Given the description of an element on the screen output the (x, y) to click on. 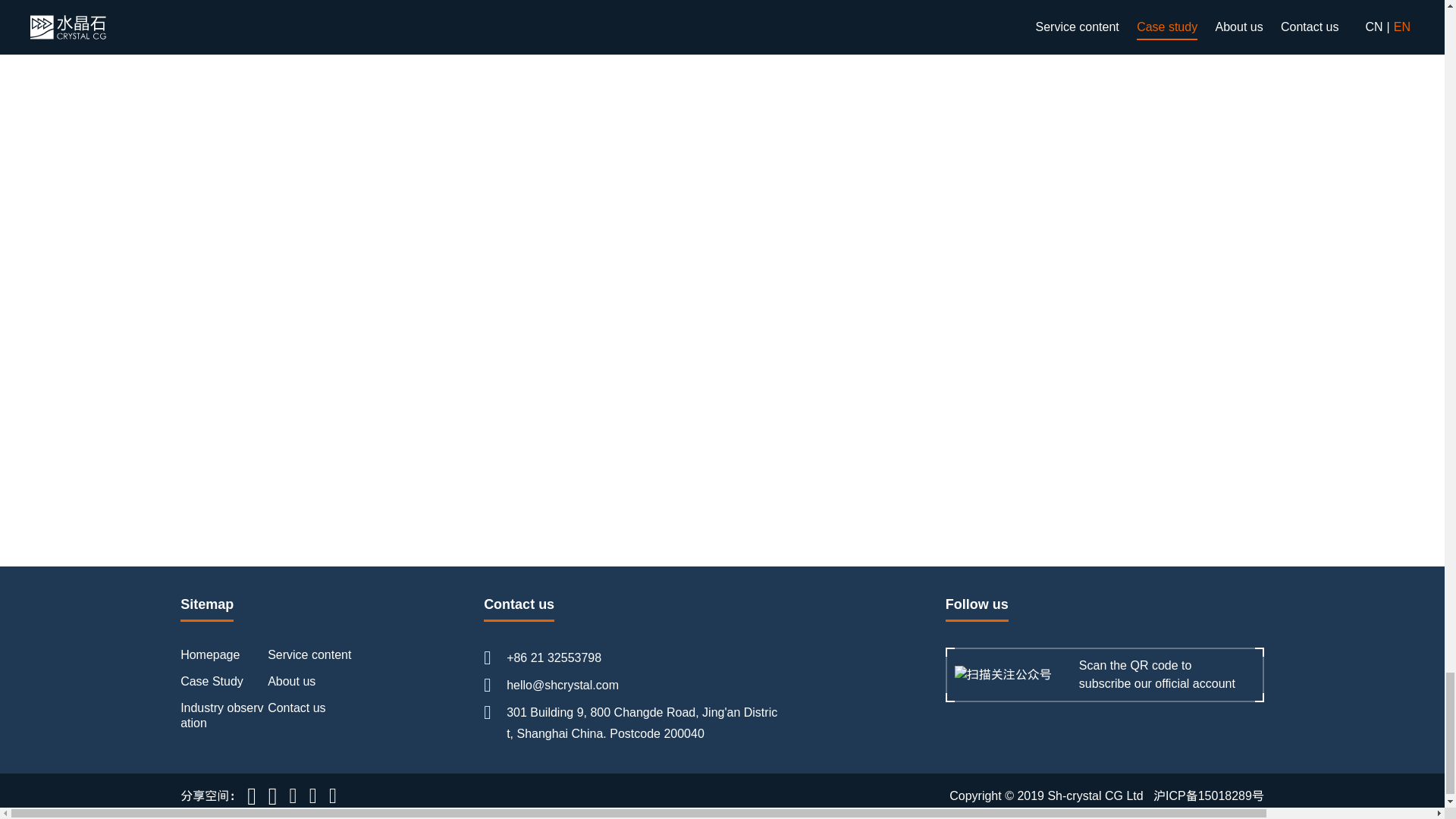
About us (291, 680)
Contact us (295, 707)
Homepage (210, 654)
Service content (308, 654)
Case Study (211, 680)
Industry observation (221, 715)
